Given the description of an element on the screen output the (x, y) to click on. 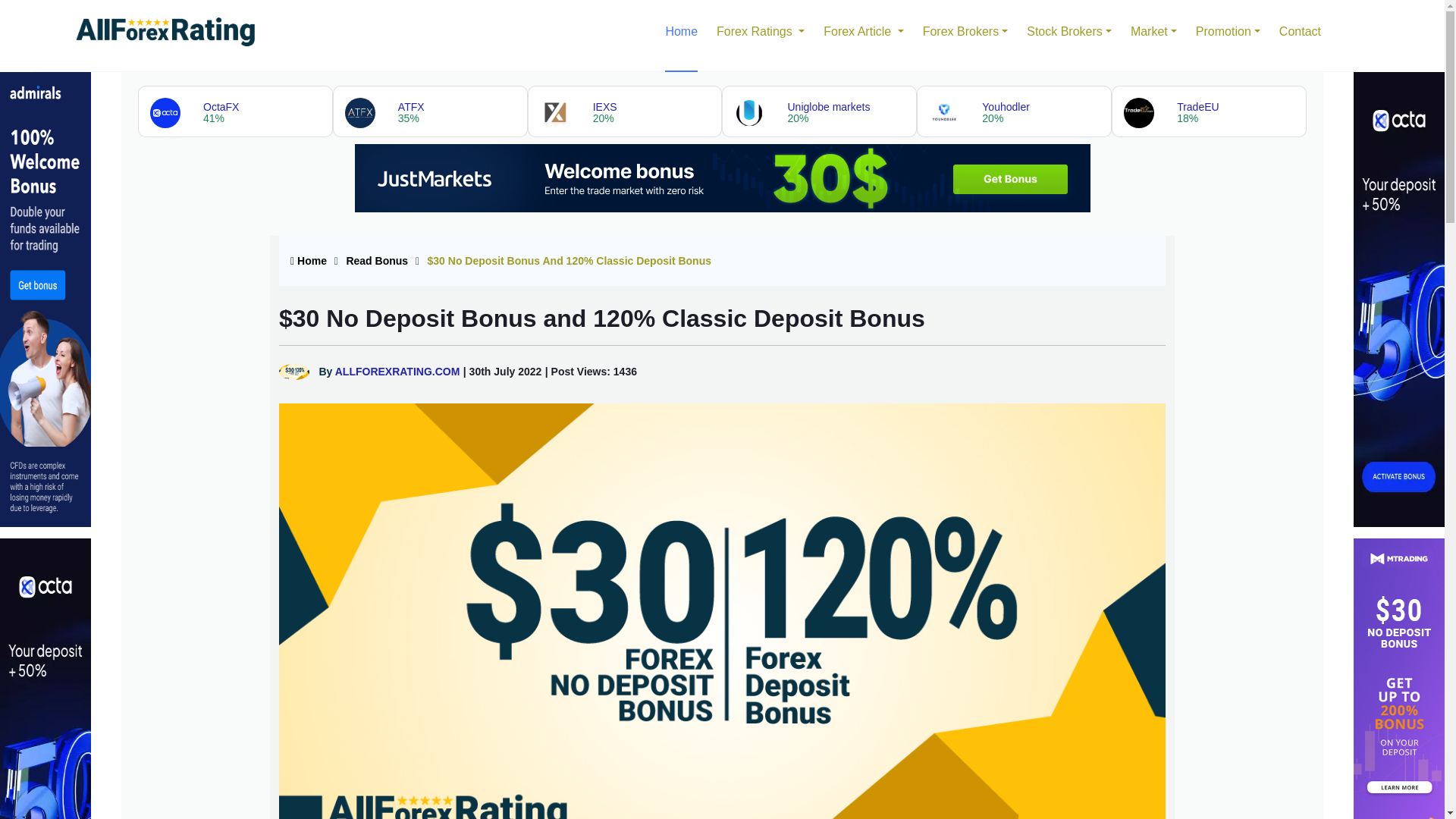
ATFX (430, 111)
Forex Brokers (966, 35)
Uniglobe markets (818, 111)
Youhodler (1013, 111)
Stock Brokers (1069, 35)
TradeEU (1209, 111)
Forex Ratings (760, 35)
OctaFX (234, 111)
IEXS (625, 111)
Forex Article (863, 35)
